Given the description of an element on the screen output the (x, y) to click on. 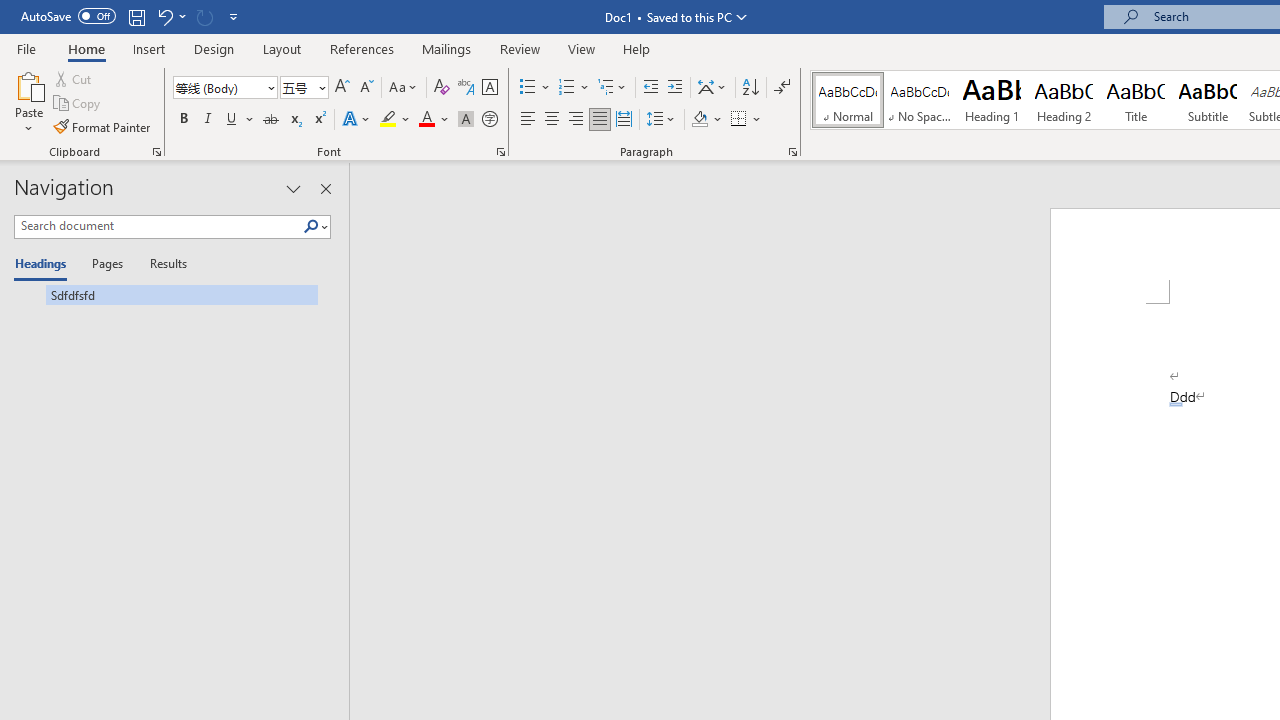
Bullets (527, 87)
Close pane (325, 188)
Align Right (575, 119)
Undo AutoCorrect (170, 15)
Grow Font (342, 87)
Help (637, 48)
References (362, 48)
Font Color (434, 119)
Italic (207, 119)
Pages (105, 264)
System (10, 11)
Bullets (535, 87)
Office Clipboard... (156, 151)
Heading 1 (991, 100)
